Given the description of an element on the screen output the (x, y) to click on. 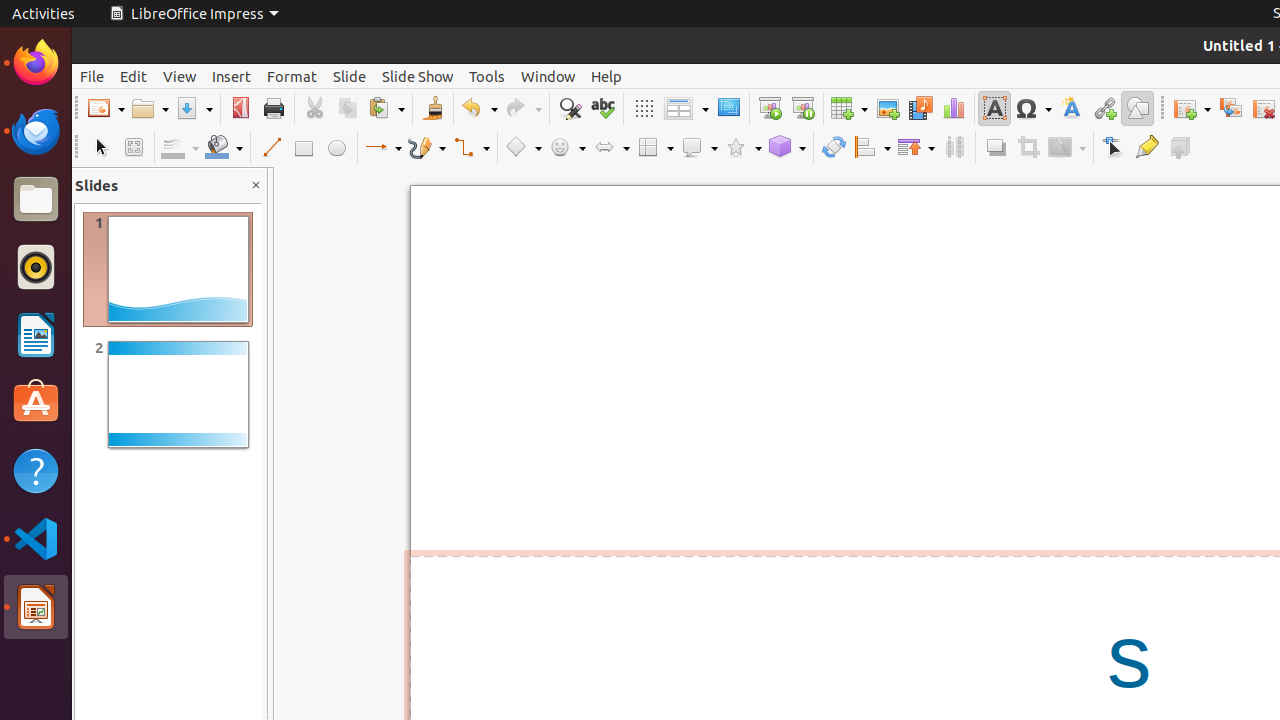
Select Element type: push-button (100, 147)
Paste Element type: push-button (386, 108)
Symbol Element type: push-button (1033, 108)
Visual Studio Code Element type: push-button (36, 538)
Callout Shapes Element type: push-button (699, 147)
